Given the description of an element on the screen output the (x, y) to click on. 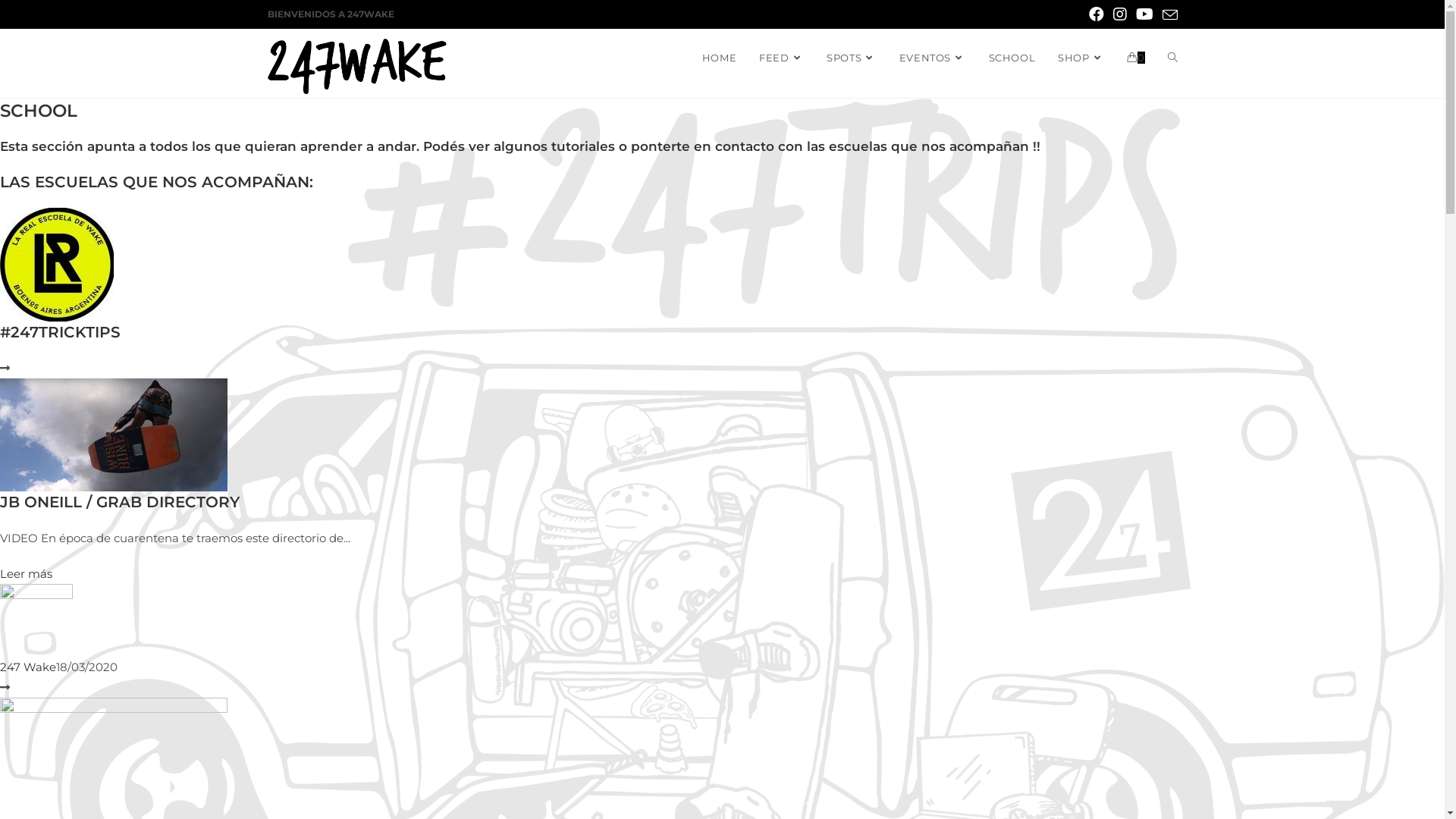
247wake.com Element type: text (952, 733)
247 Wake Element type: text (28, 666)
SCHOOL Element type: text (1012, 57)
24sietewake@gmail.com Element type: text (455, 733)
0 Element type: text (1135, 57)
HOME Element type: text (718, 57)
JB ONEILL / GRAB DIRECTORY Element type: text (119, 501)
SHOP Element type: text (1080, 57)
SPOTS Element type: text (851, 57)
FEED Element type: text (781, 57)
EVENTOS Element type: text (932, 57)
